Given the description of an element on the screen output the (x, y) to click on. 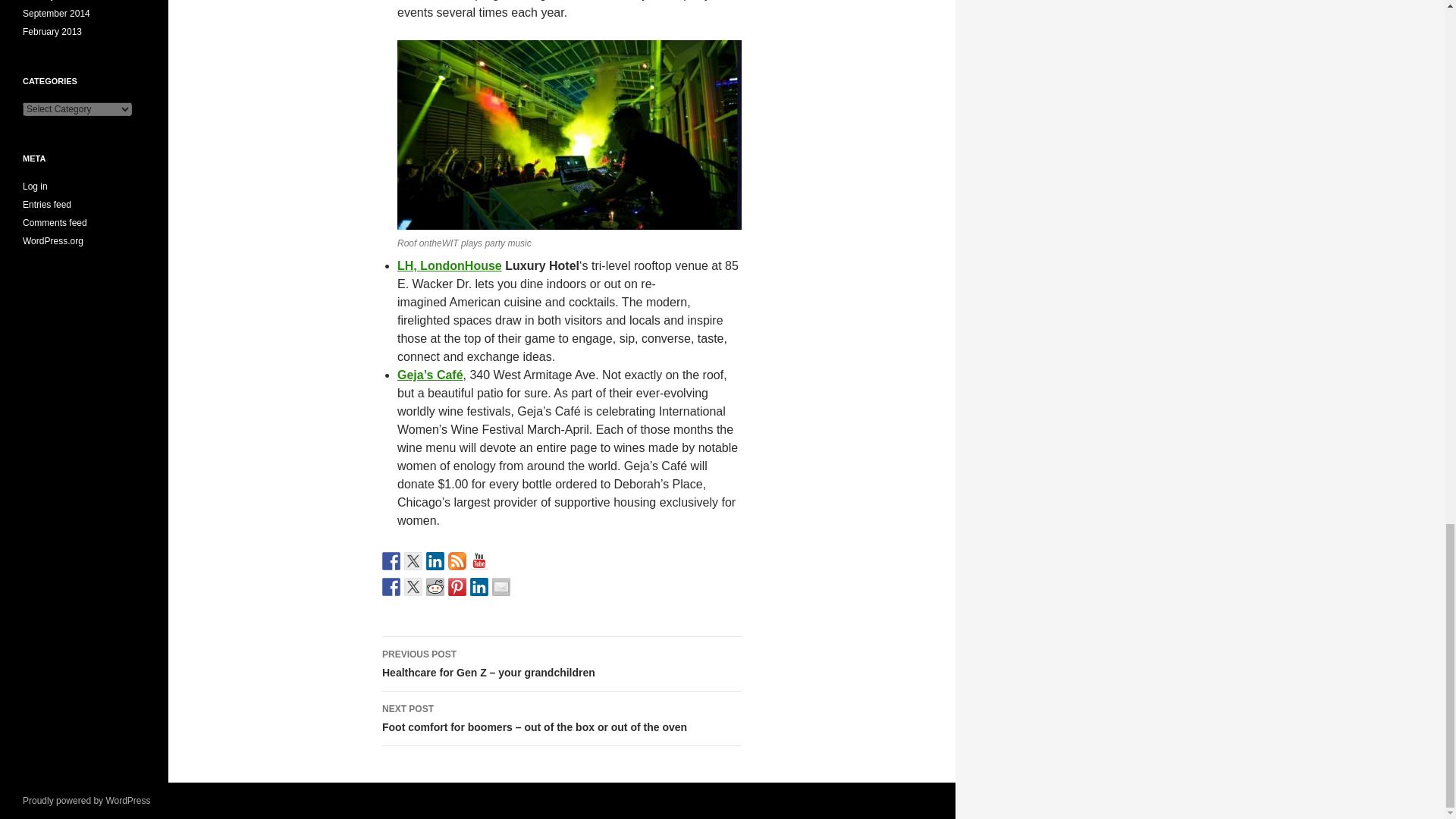
Follow us on Facebook (390, 561)
Follow us on Twitter (413, 561)
LH, LondonHouse (449, 265)
Find us on Linkedin (435, 561)
